Given the description of an element on the screen output the (x, y) to click on. 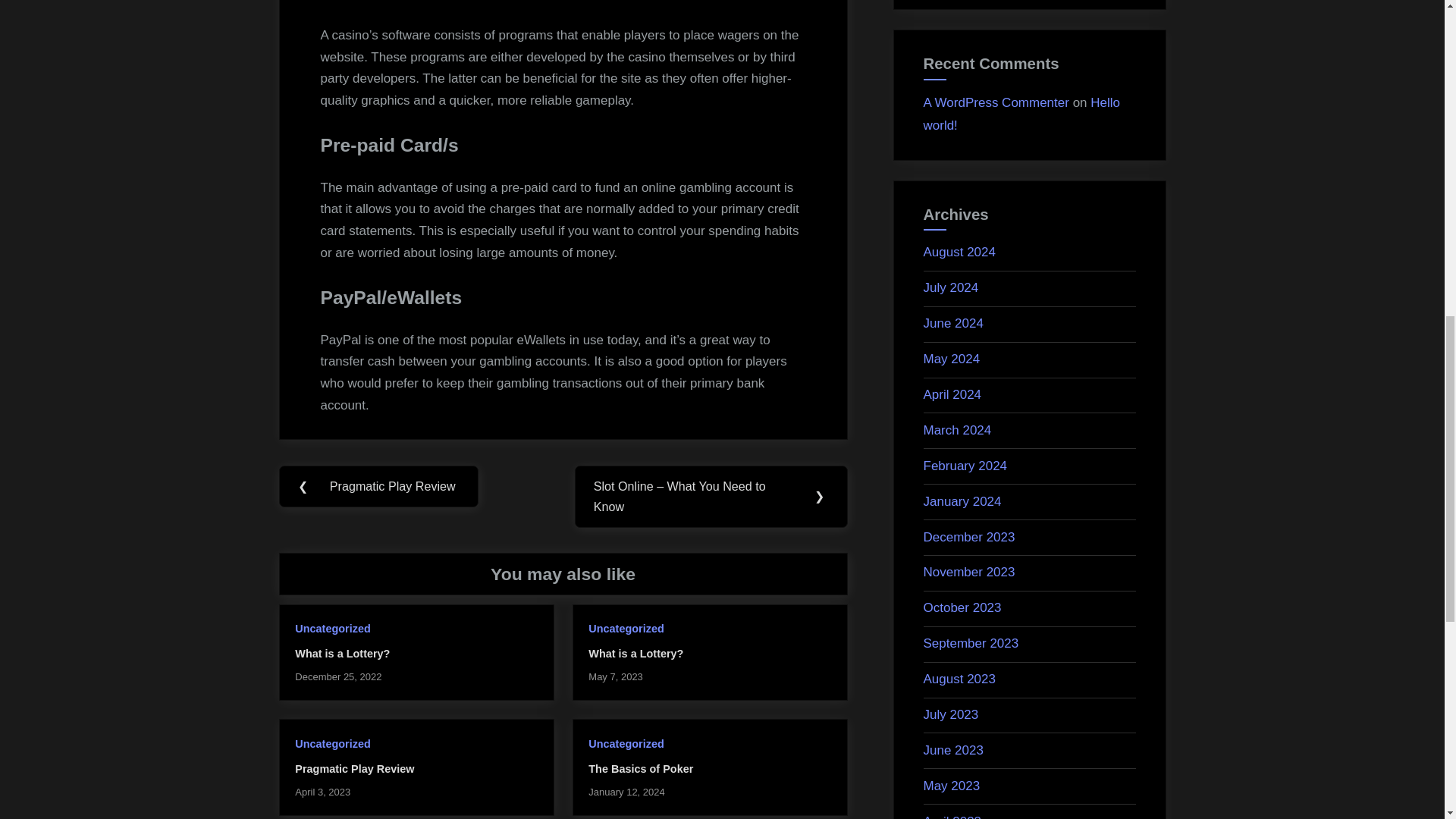
Hello world! (1022, 114)
Uncategorized (625, 628)
Uncategorized (332, 628)
What is a Lottery? (342, 653)
January 2024 (962, 501)
April 2024 (952, 394)
August 2024 (959, 251)
What is a Lottery? (635, 653)
December 2023 (968, 536)
June 2024 (953, 323)
